Given the description of an element on the screen output the (x, y) to click on. 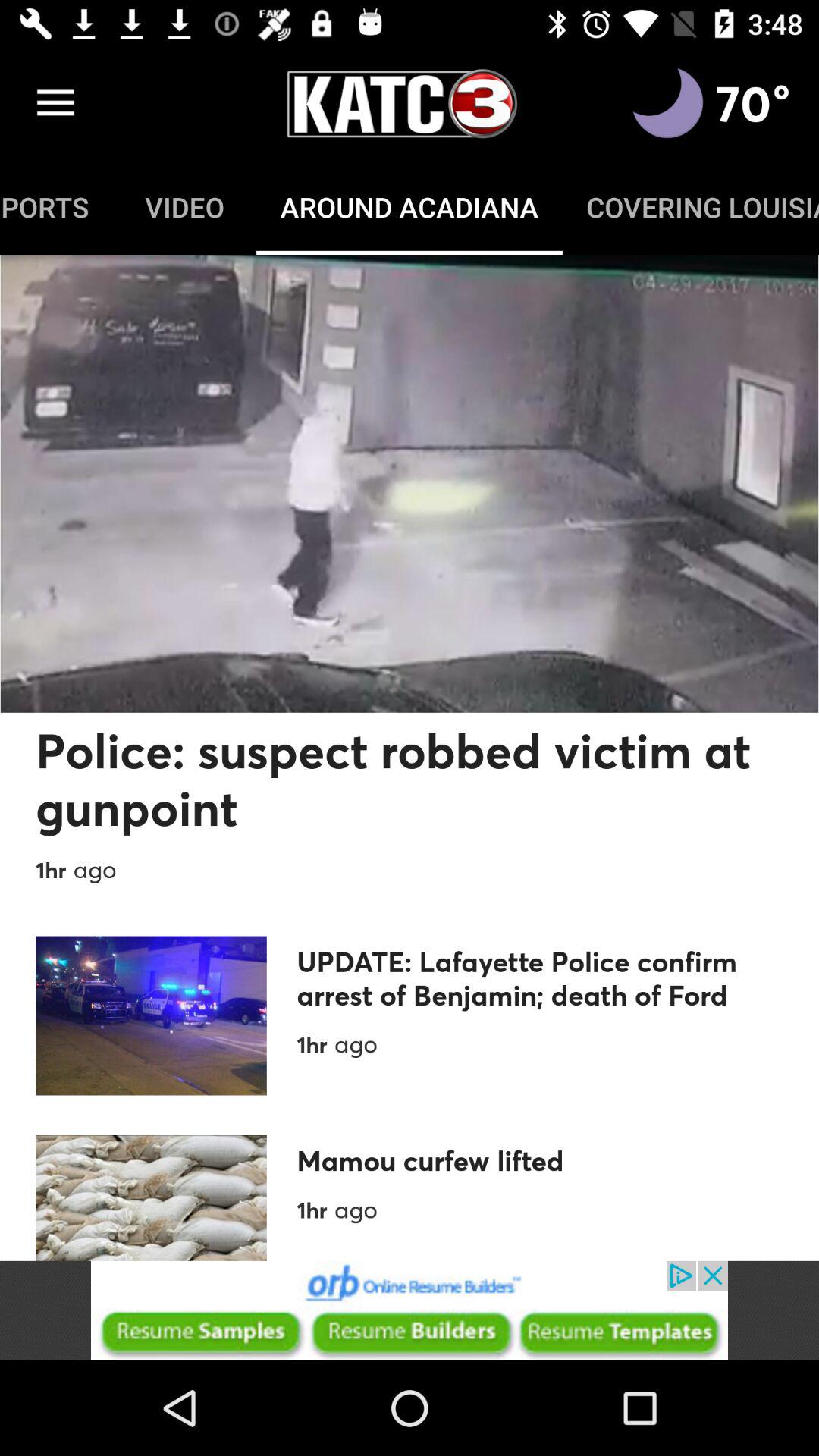
advertisement area (409, 1310)
